Given the description of an element on the screen output the (x, y) to click on. 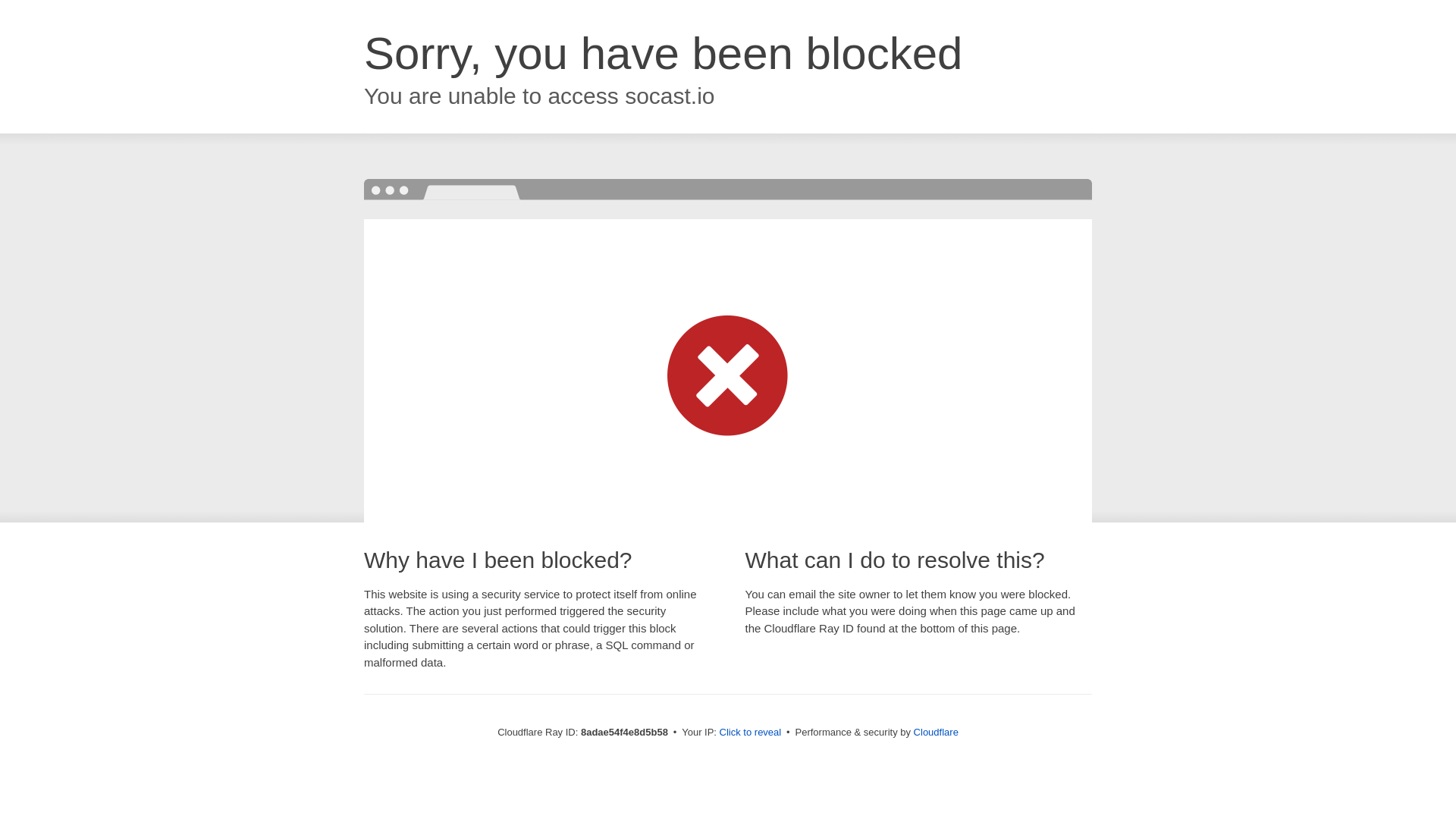
Cloudflare (936, 731)
Click to reveal (750, 732)
